Given the description of an element on the screen output the (x, y) to click on. 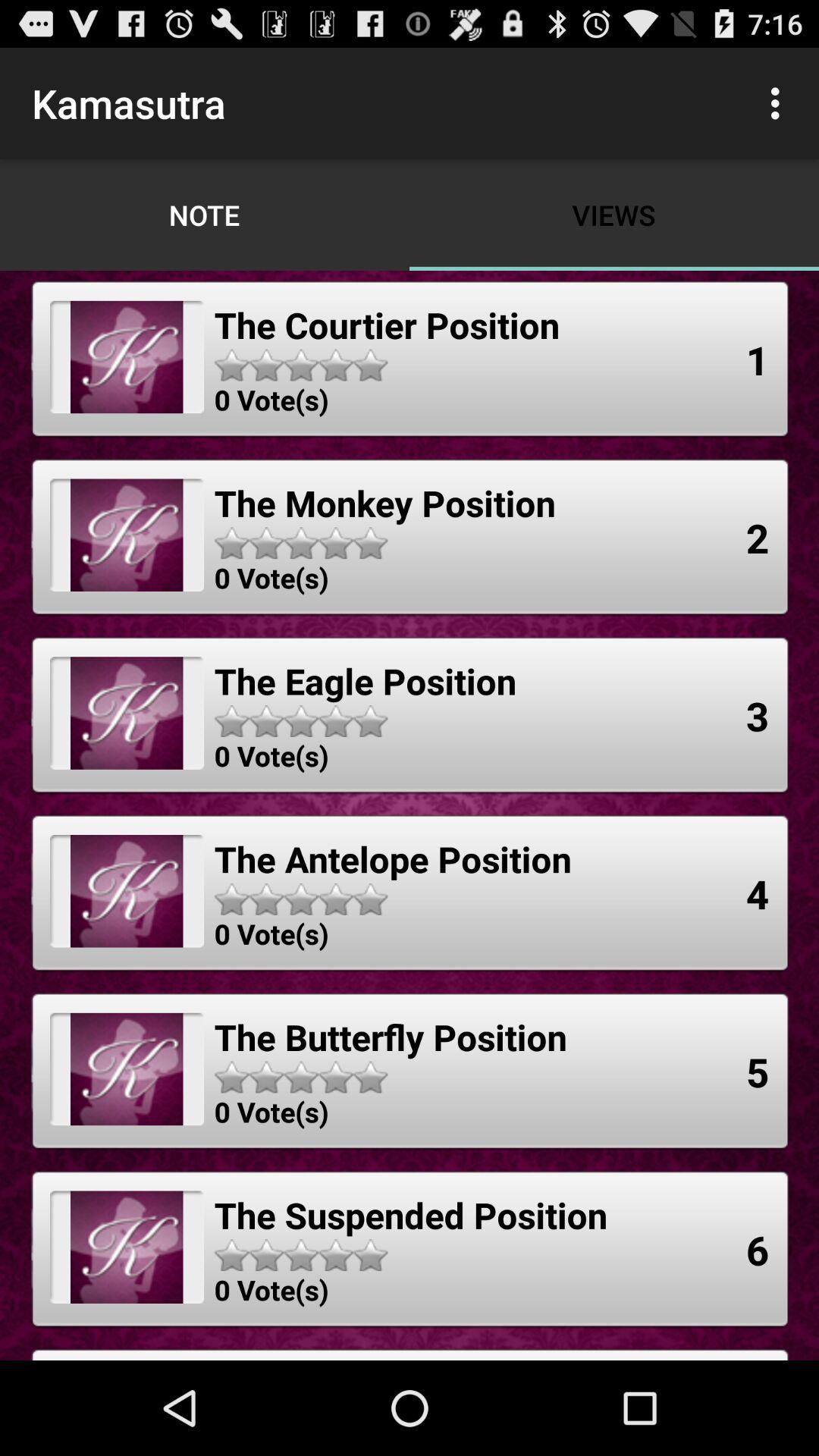
choose the item next to views item (779, 103)
